Given the description of an element on the screen output the (x, y) to click on. 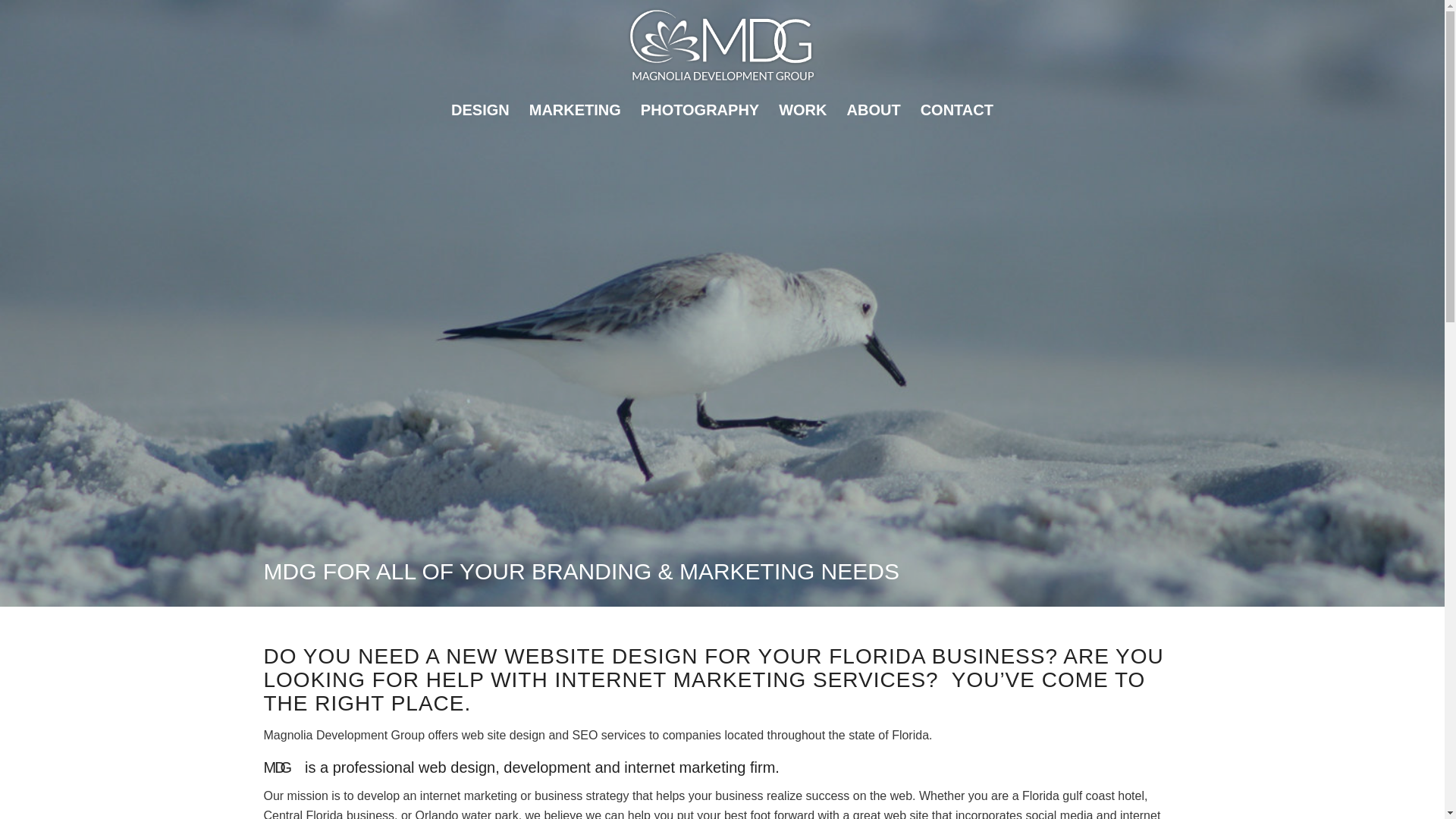
WORK (801, 109)
ABOUT (874, 109)
CONTACT (957, 109)
MARKETING (574, 109)
PHOTOGRAPHY (699, 109)
DESIGN (480, 109)
